Given the description of an element on the screen output the (x, y) to click on. 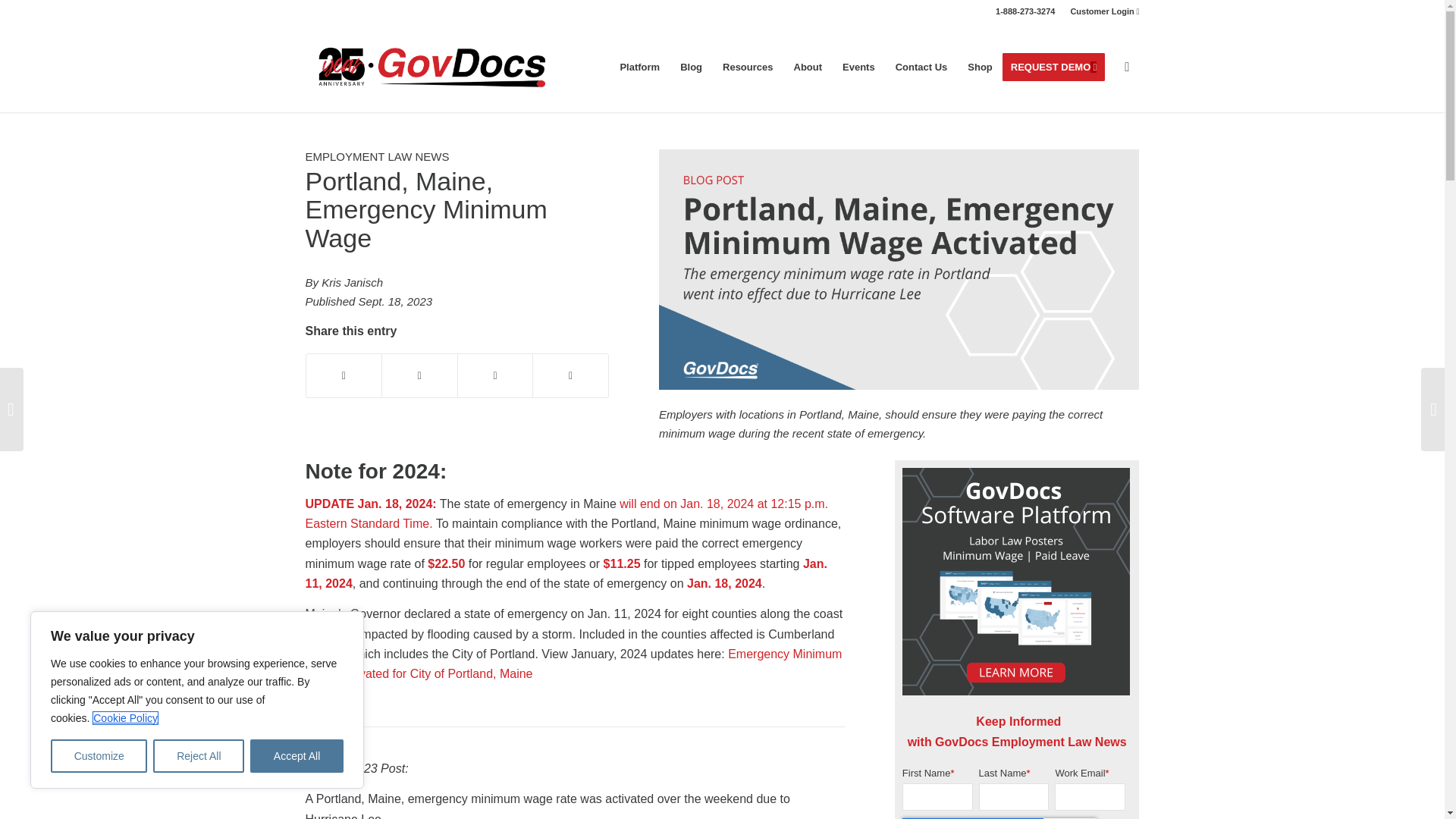
Platform (639, 67)
Reject All (198, 756)
Customize (98, 756)
Customer Login (1104, 11)
Cookie Policy (125, 717)
Resources (747, 67)
1-888-273-3274 (1024, 10)
Accept All (296, 756)
Blog (690, 67)
